Given the description of an element on the screen output the (x, y) to click on. 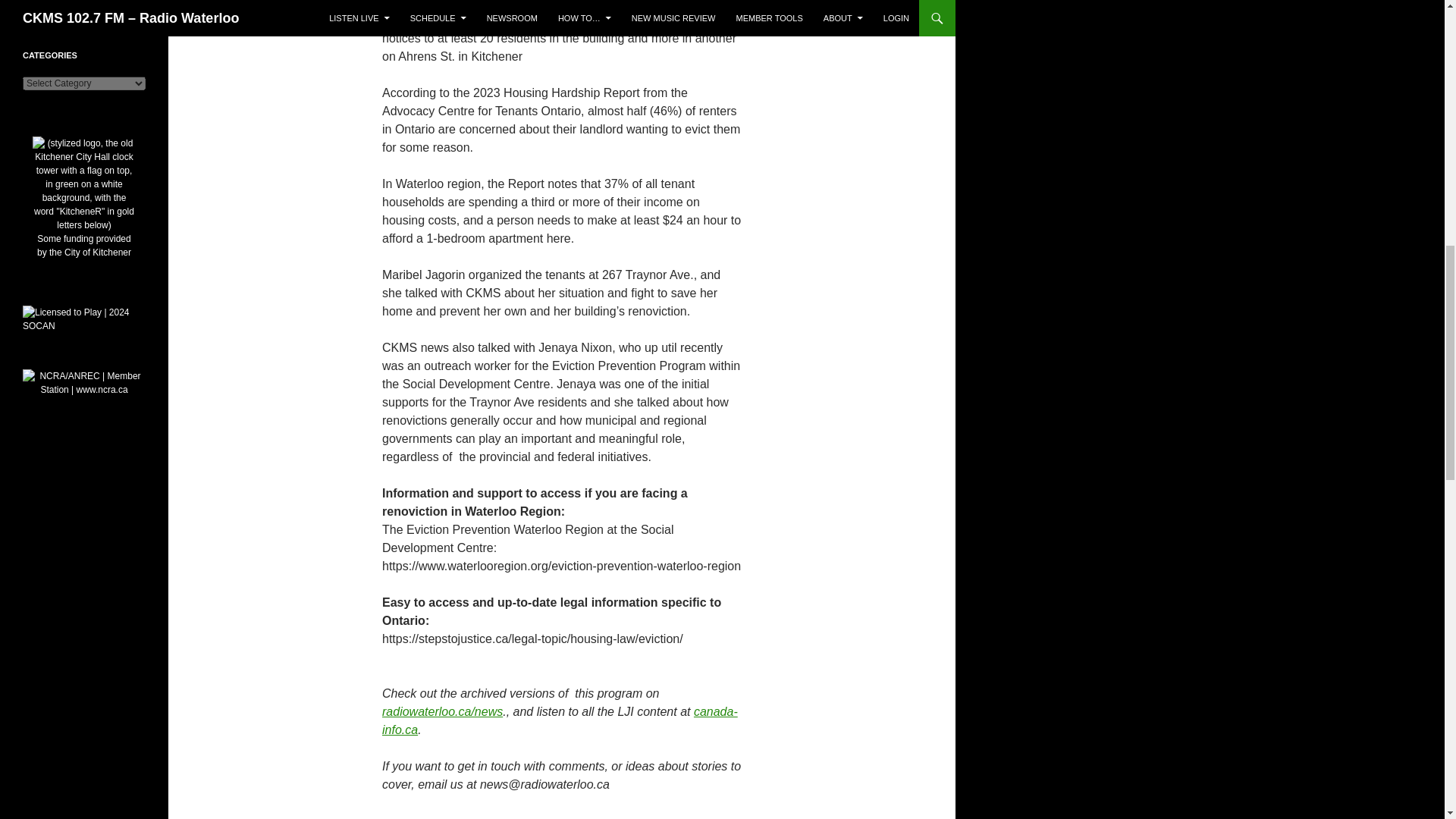
City of Kitchener (83, 217)
Music Licensing - SOCAN (84, 317)
canada-info.ca (559, 720)
